Given the description of an element on the screen output the (x, y) to click on. 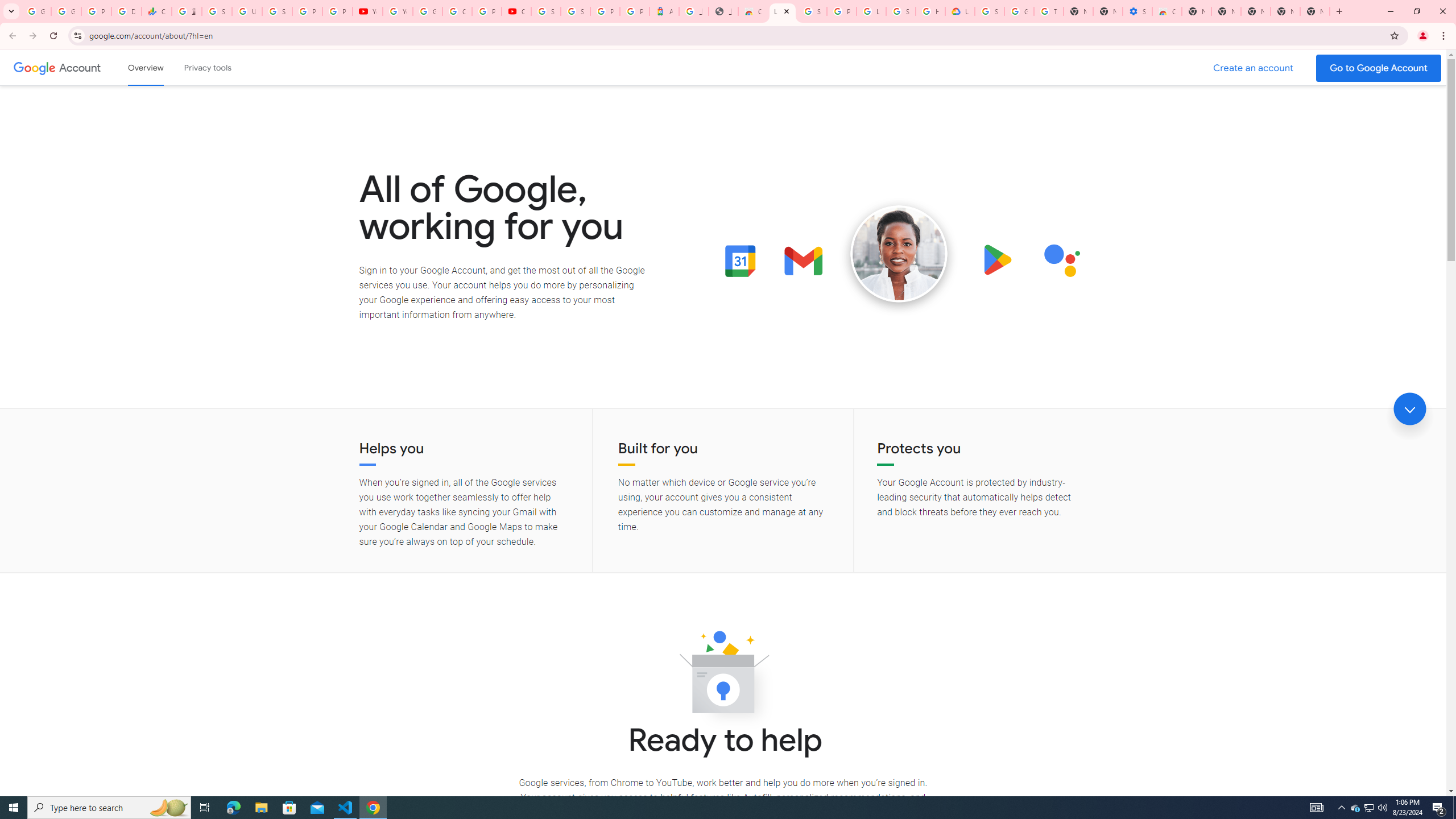
Jump link (1409, 408)
Ready to help (722, 675)
Go to your Google Account (1378, 67)
Google Workspace Admin Community (36, 11)
New Tab (1314, 11)
Atour Hotel - Google hotels (664, 11)
Create a Google Account (1253, 67)
